Given the description of an element on the screen output the (x, y) to click on. 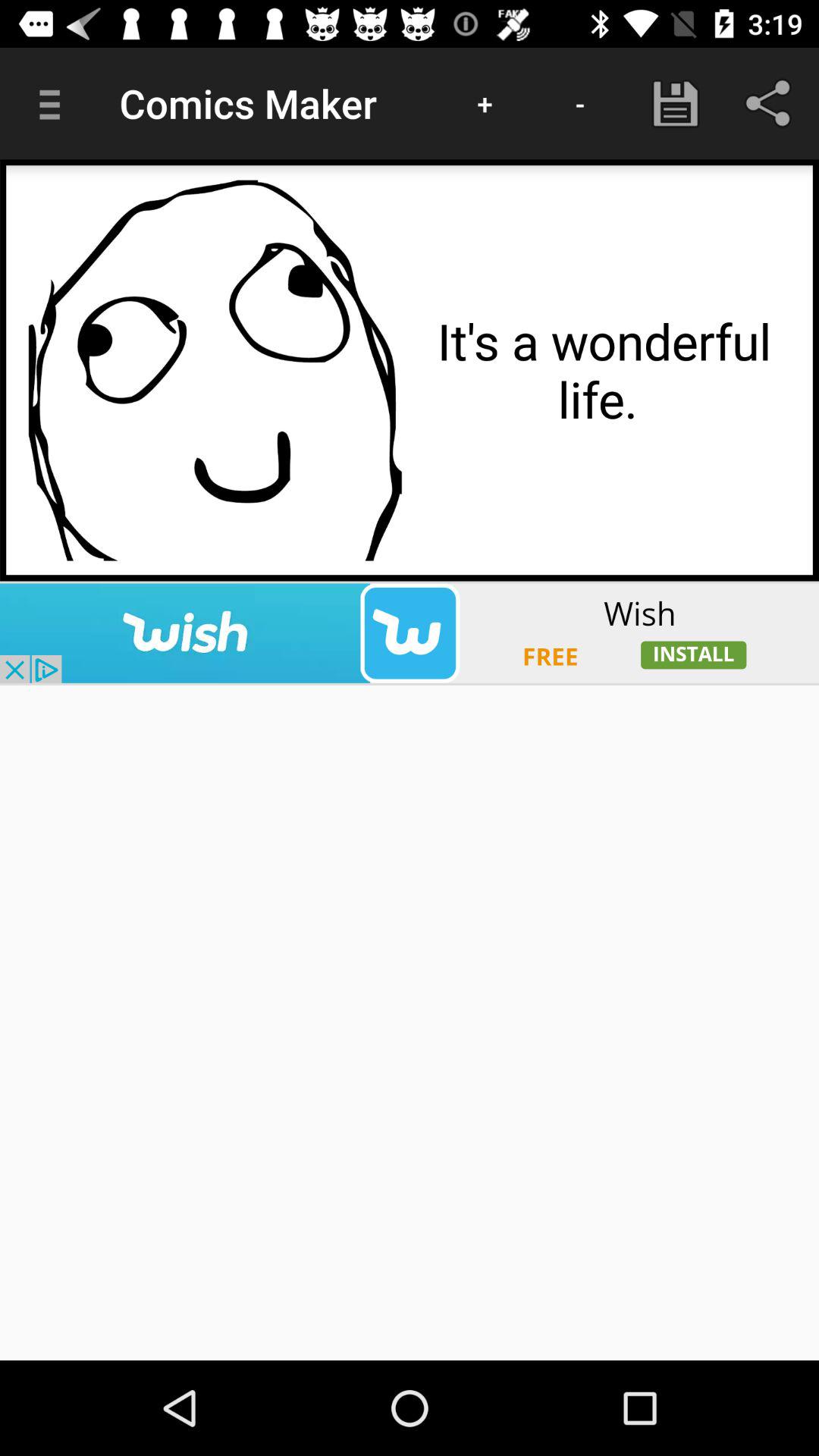
cartoon picture (214, 370)
